Given the description of an element on the screen output the (x, y) to click on. 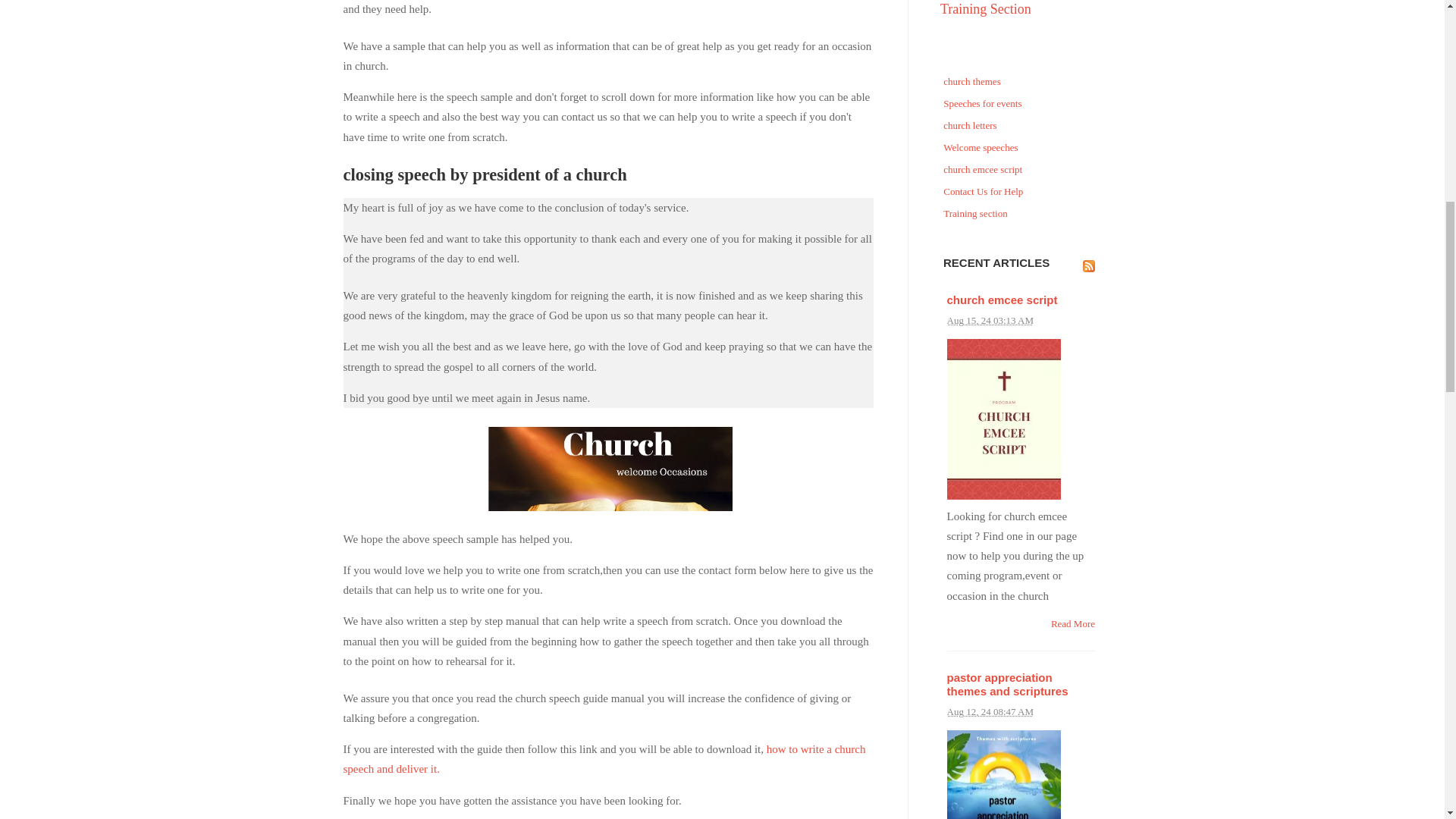
church emcee script (1021, 169)
2024-08-15T03:13:24-0400 (989, 319)
Speeches for events (1021, 104)
church themes (1021, 82)
2024-08-12T08:47:42-0400 (989, 711)
Welcome speeches (1021, 148)
how to write a church speech and deliver it. (603, 758)
Training section (1021, 213)
Contact Us for Help (1021, 191)
church emcee script (1001, 299)
